Given the description of an element on the screen output the (x, y) to click on. 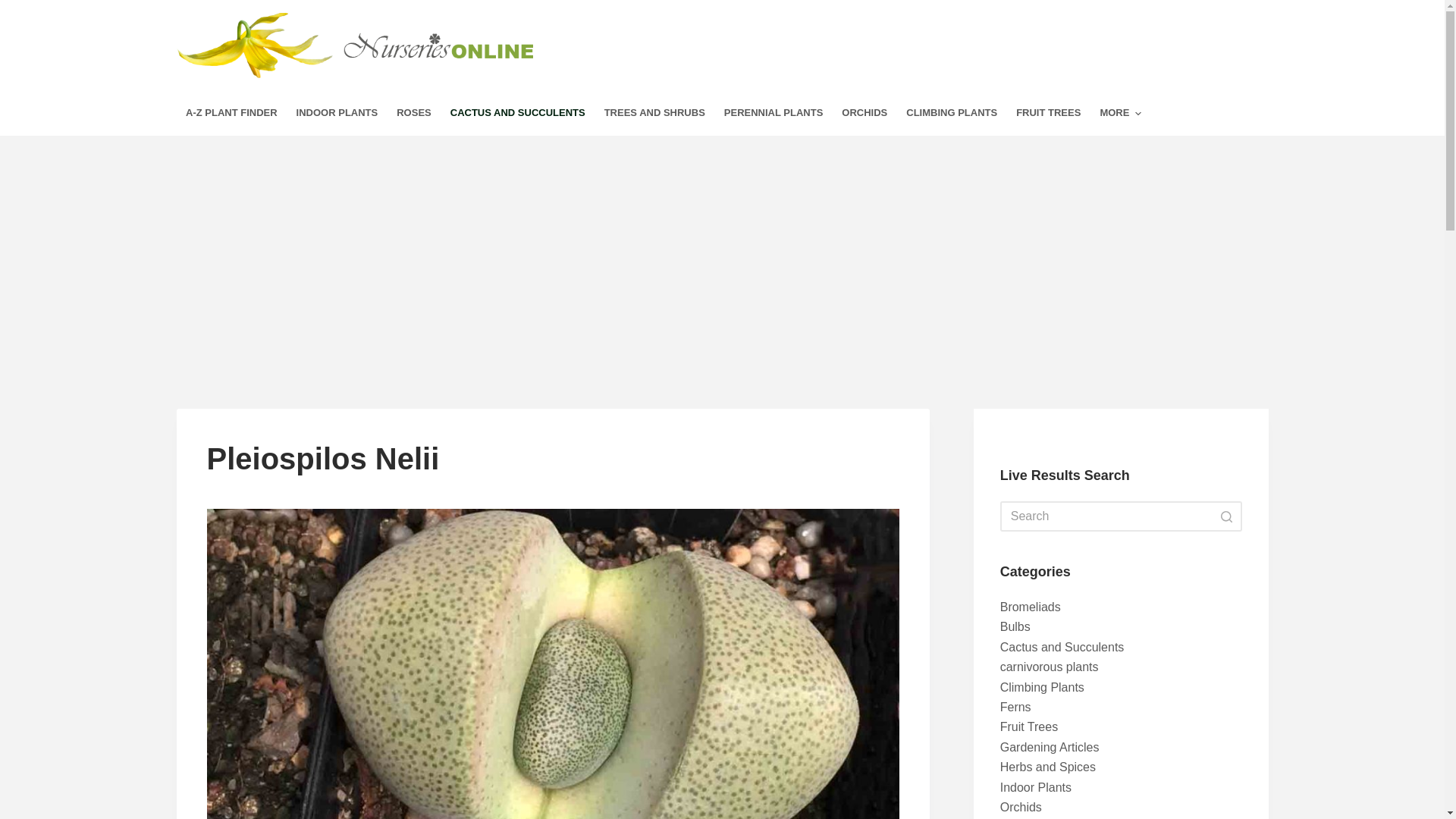
ORCHIDS (864, 112)
MORE (1120, 112)
INDOOR PLANTS (336, 112)
Cactus and Succulents (1062, 646)
CACTUS AND SUCCULENTS (517, 112)
A-Z PLANT FINDER (231, 112)
carnivorous plants (1049, 666)
Skip to content (15, 7)
ROSES (414, 112)
PERENNIAL PLANTS (773, 112)
Bulbs (1015, 626)
Fruit Trees (1029, 726)
TREES AND SHRUBS (654, 112)
Climbing Plants (1042, 686)
